Given the description of an element on the screen output the (x, y) to click on. 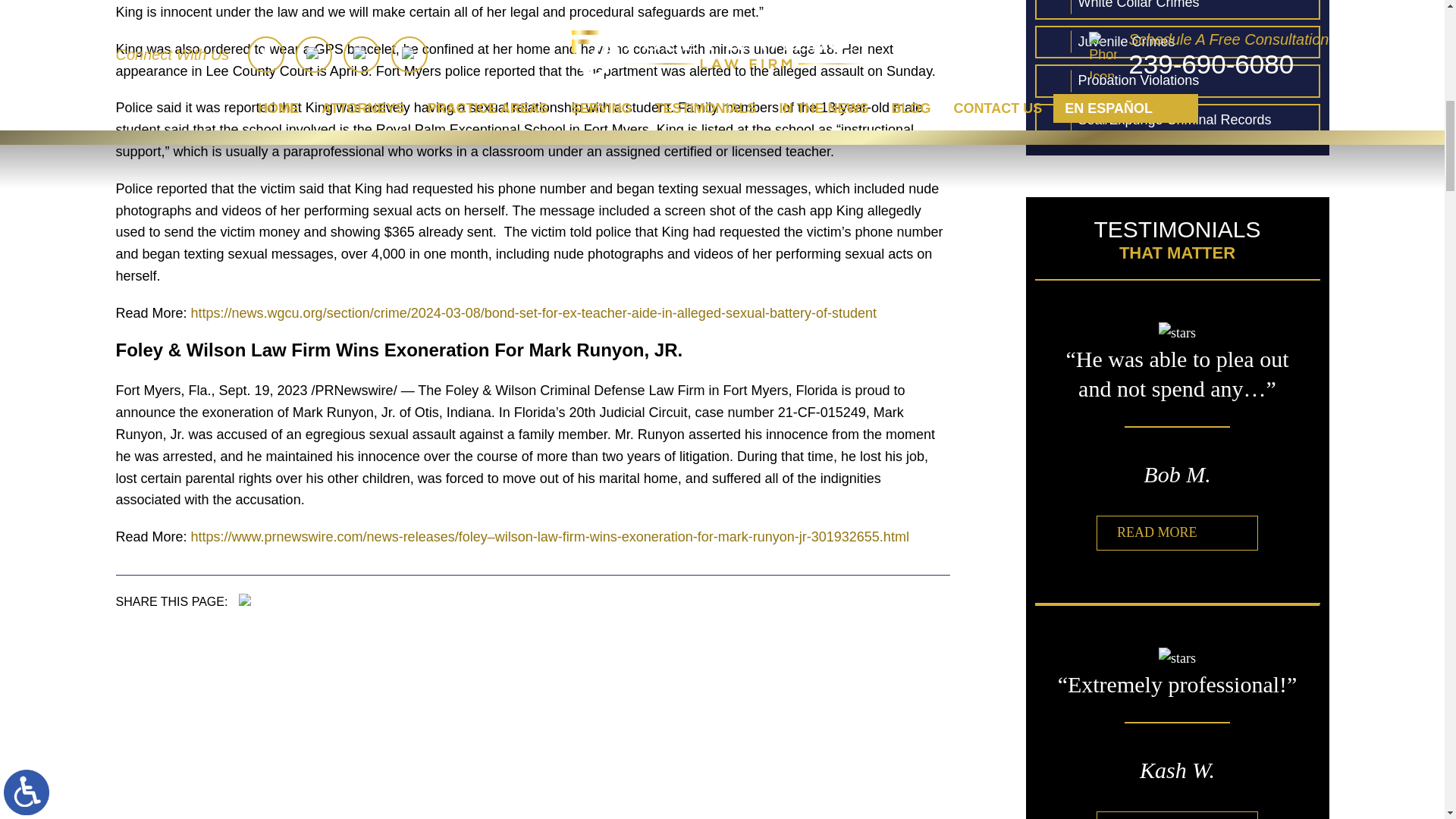
Facebook (244, 599)
Twitter (255, 599)
LinkedIn (266, 599)
